Given the description of an element on the screen output the (x, y) to click on. 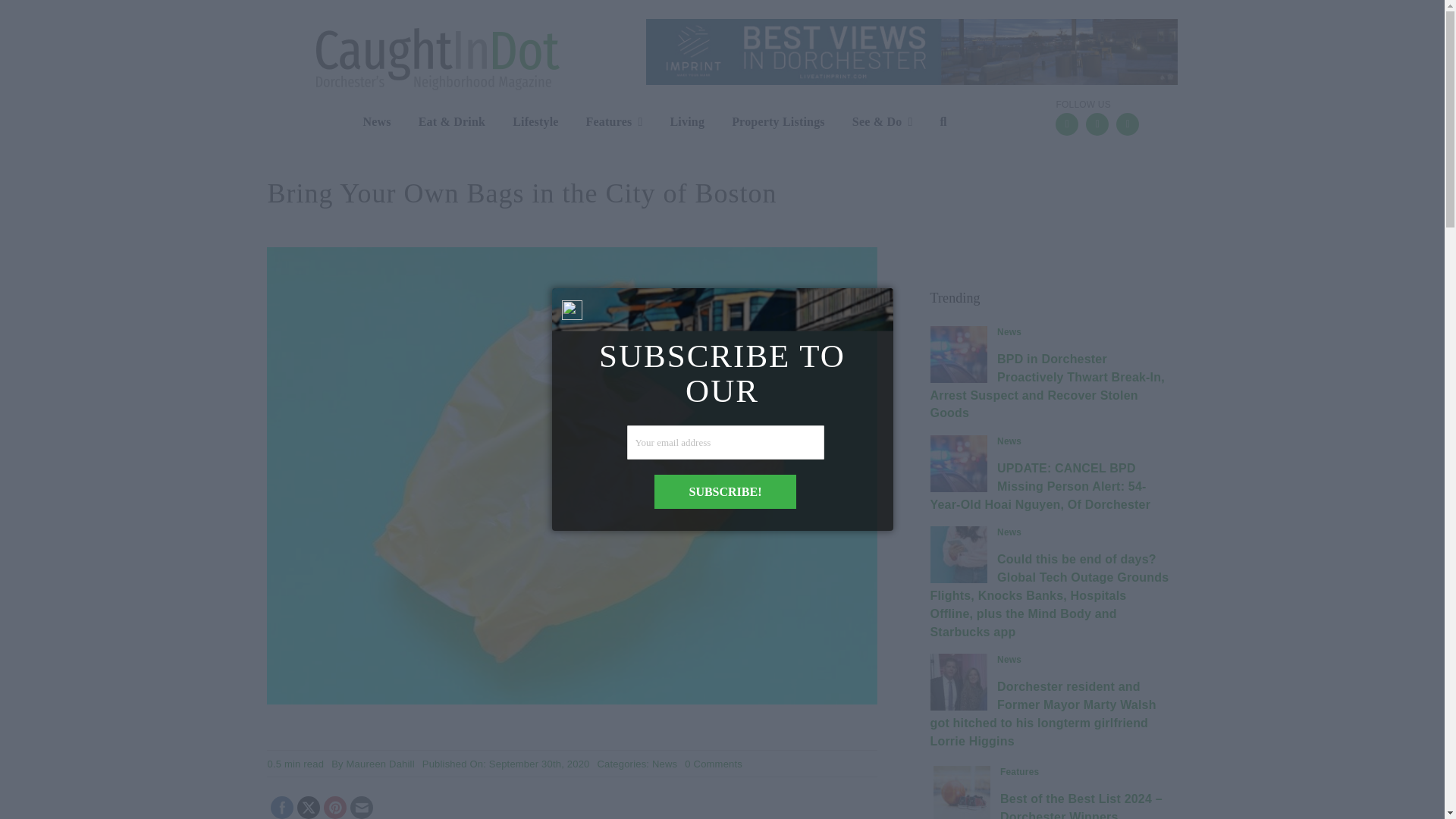
Follow by Email (361, 807)
Maureen Dahill (380, 763)
Lifestyle (713, 763)
Pinterest (523, 122)
News (335, 807)
Facebook (664, 763)
News (282, 807)
Posts by Maureen Dahill (364, 122)
Living (380, 763)
Features (675, 122)
Property Listings (603, 122)
Twitter (767, 122)
